Given the description of an element on the screen output the (x, y) to click on. 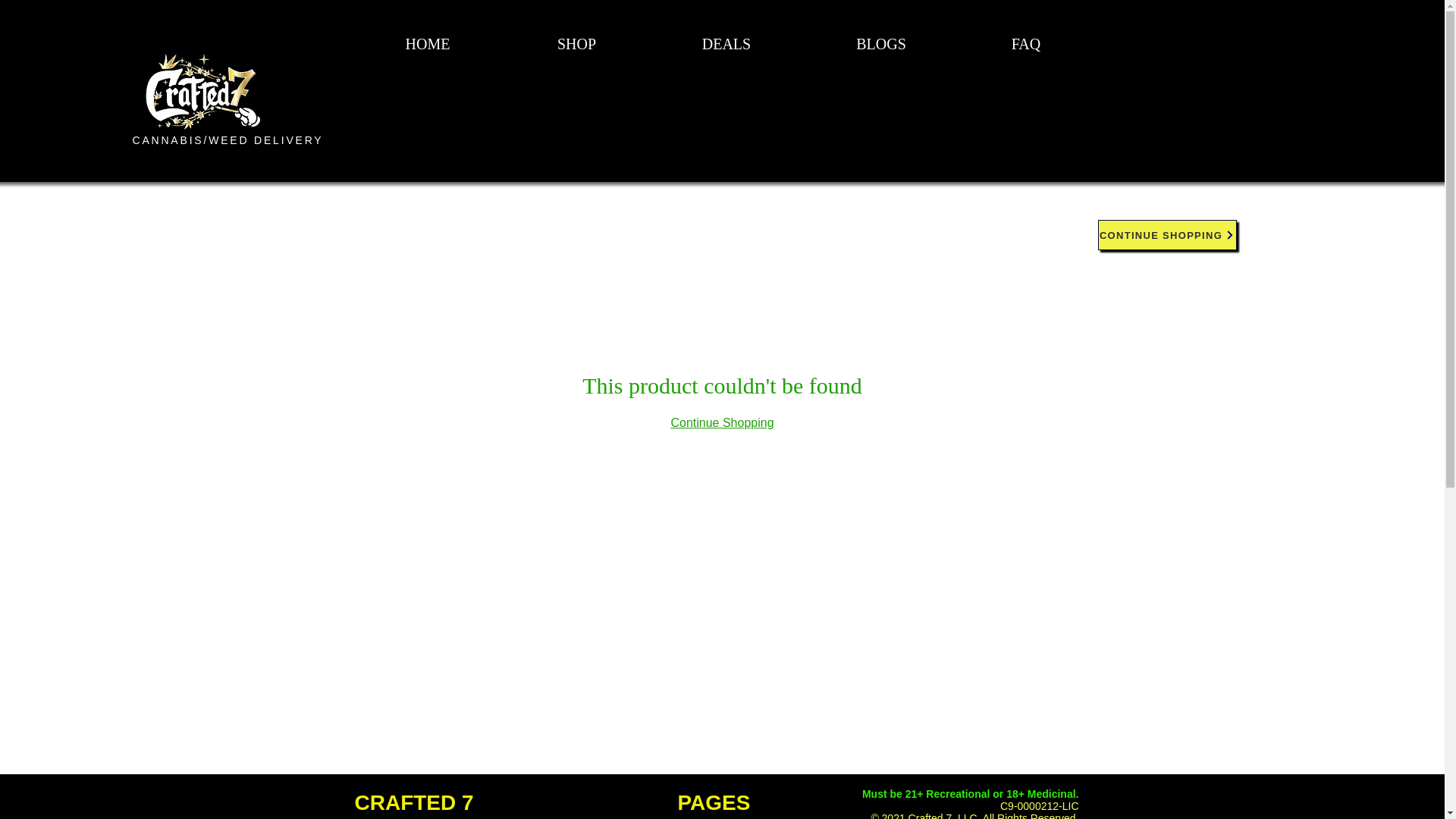
BLOGS (881, 44)
FAQ (1025, 44)
Continue Shopping (721, 422)
DEALS (726, 44)
CONTINUE SHOPPING (1166, 235)
HOME (427, 44)
